Given the description of an element on the screen output the (x, y) to click on. 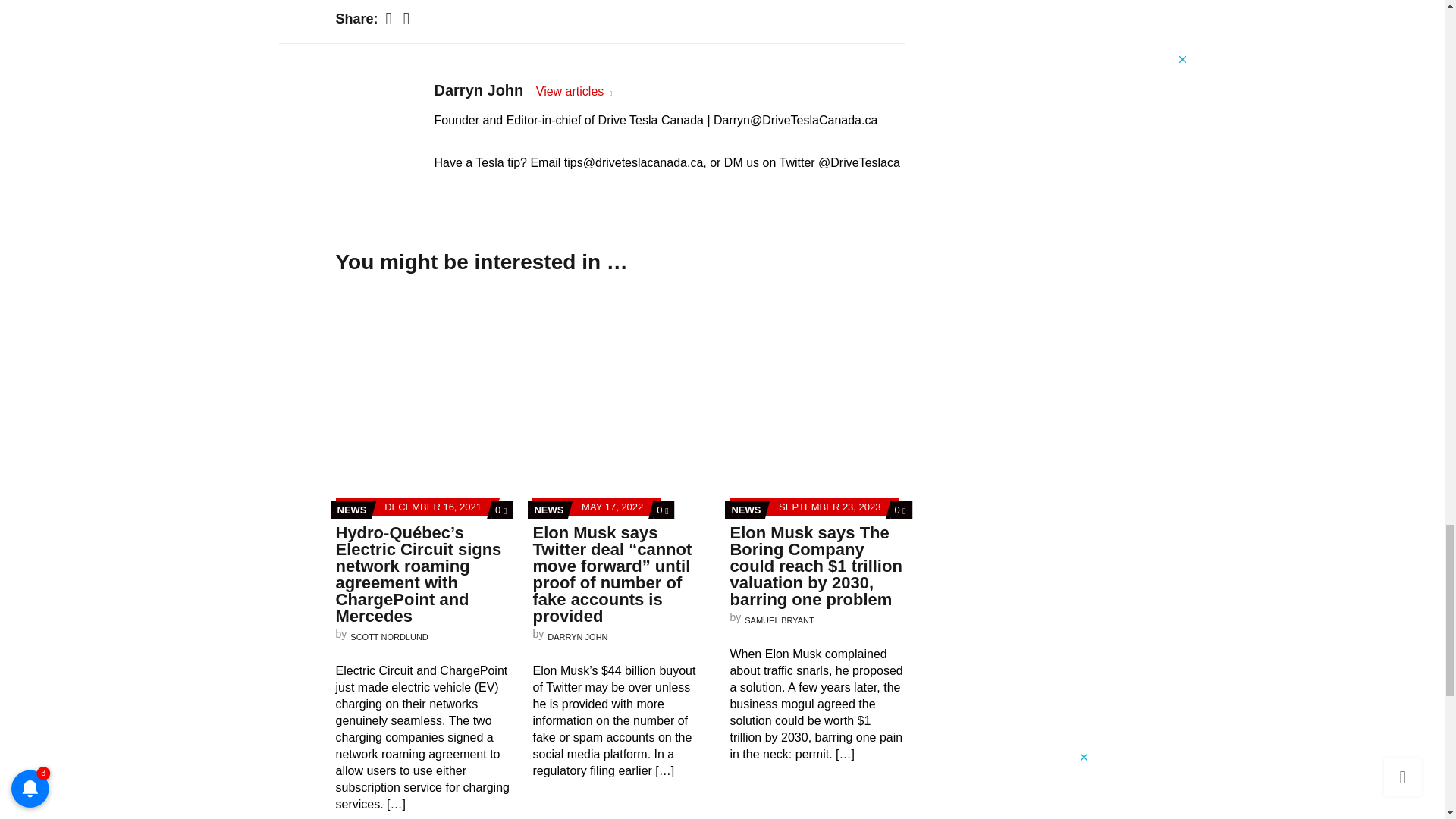
3rd party ad content (1074, 33)
View articles (573, 91)
